Given the description of an element on the screen output the (x, y) to click on. 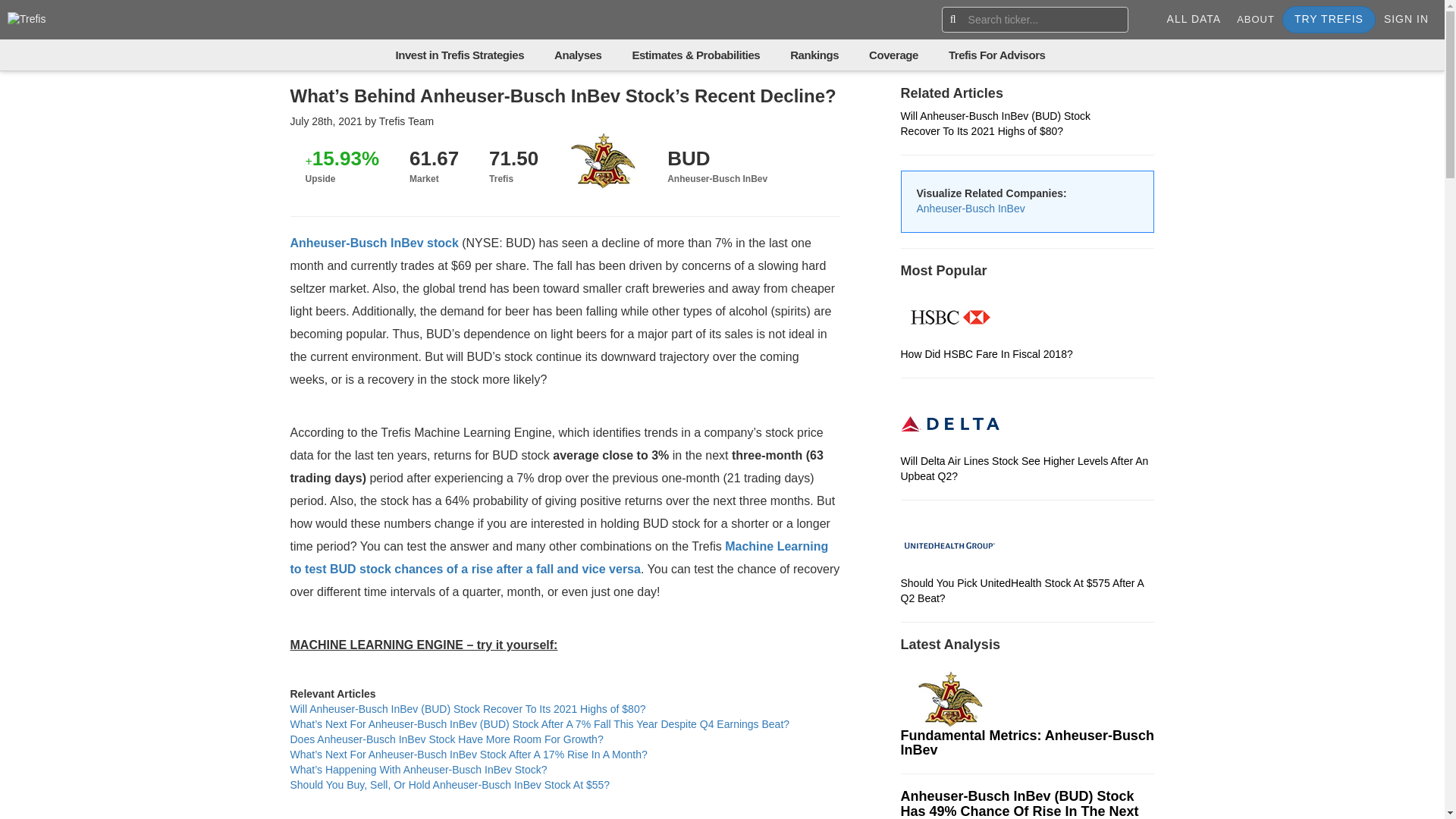
Does Anheuser-Busch InBev Stock Have More Room For Growth? (445, 739)
BUD Logo (949, 698)
Fundamental Metrics: Anheuser-Busch InBev (1027, 723)
Trefis For Advisors (996, 54)
Rankings (814, 54)
Analyses (577, 54)
Coverage (893, 54)
Anheuser-Busch InBev stock (373, 242)
Invest in Trefis Strategies (460, 54)
ABOUT (1255, 19)
SIGN IN (1406, 19)
ALL DATA (1194, 19)
TRY TREFIS (1328, 19)
